Given the description of an element on the screen output the (x, y) to click on. 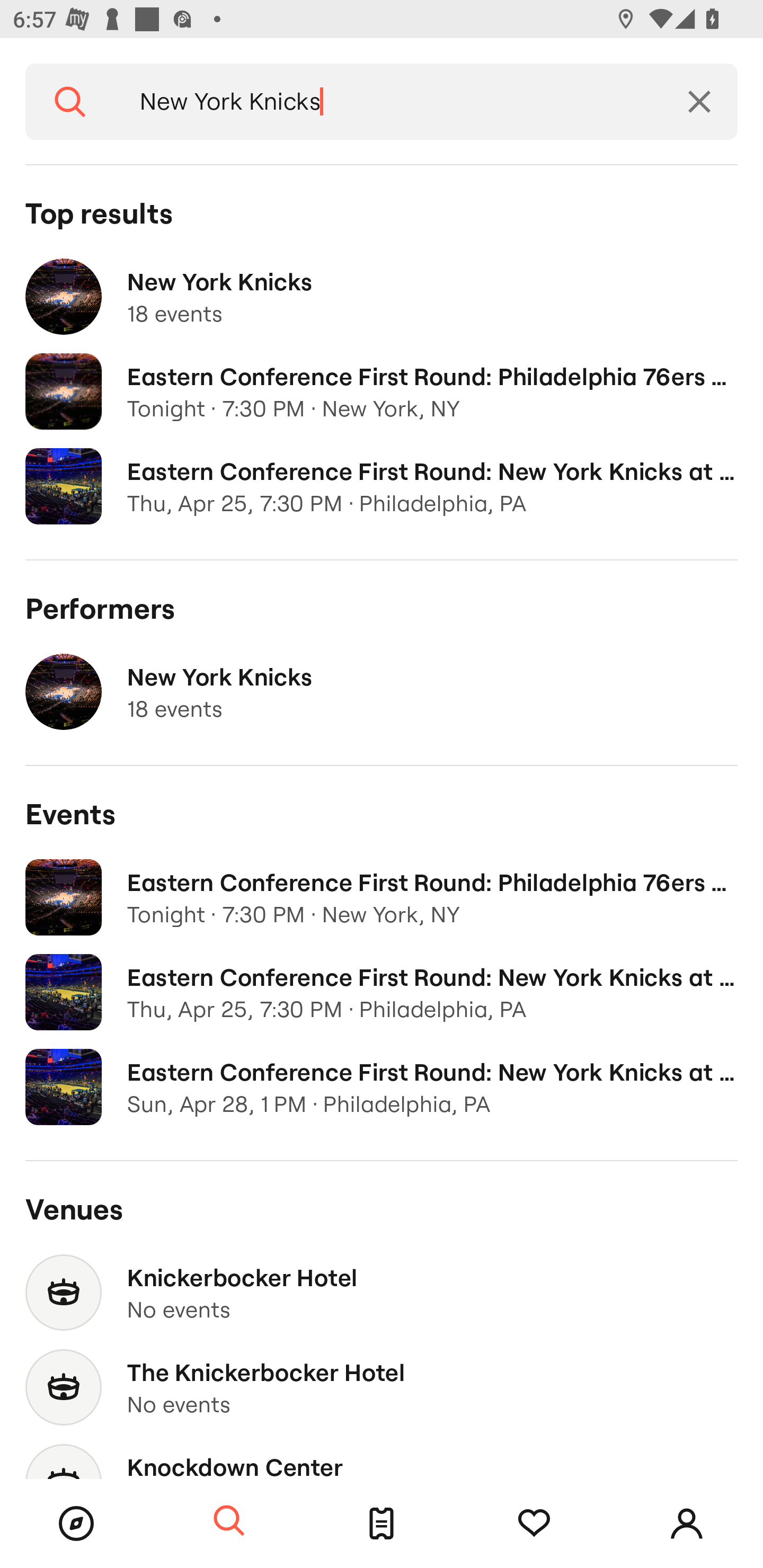
Search (69, 101)
New York Knicks (387, 101)
Clear (699, 101)
New York Knicks 18 events (381, 296)
New York Knicks 18 events (381, 692)
Knickerbocker Hotel No events (381, 1292)
The Knickerbocker Hotel No events (381, 1387)
Browse (76, 1523)
Search (228, 1521)
Tickets (381, 1523)
Tracking (533, 1523)
Account (686, 1523)
